Given the description of an element on the screen output the (x, y) to click on. 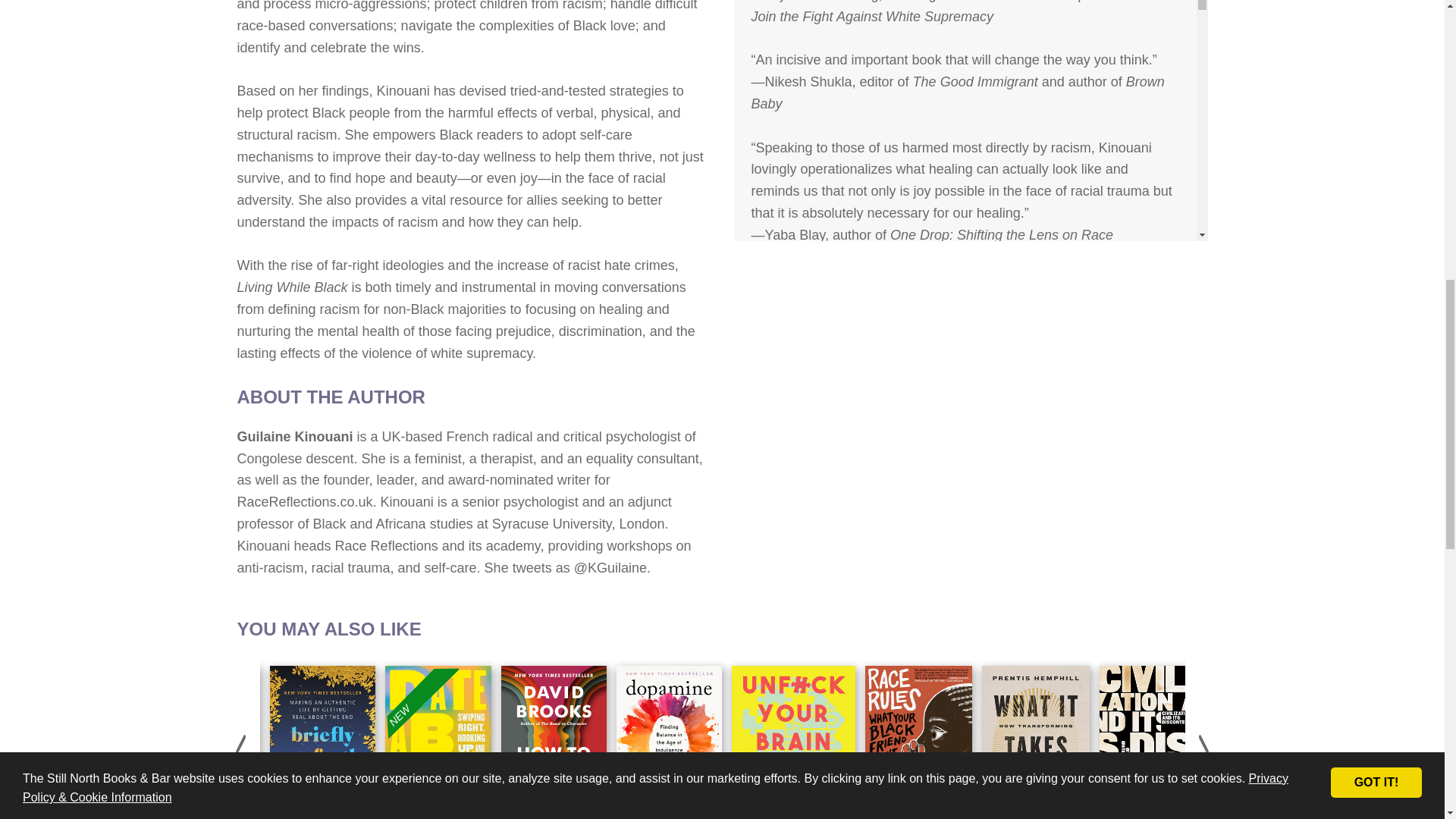
GOT IT! (1376, 55)
